Given the description of an element on the screen output the (x, y) to click on. 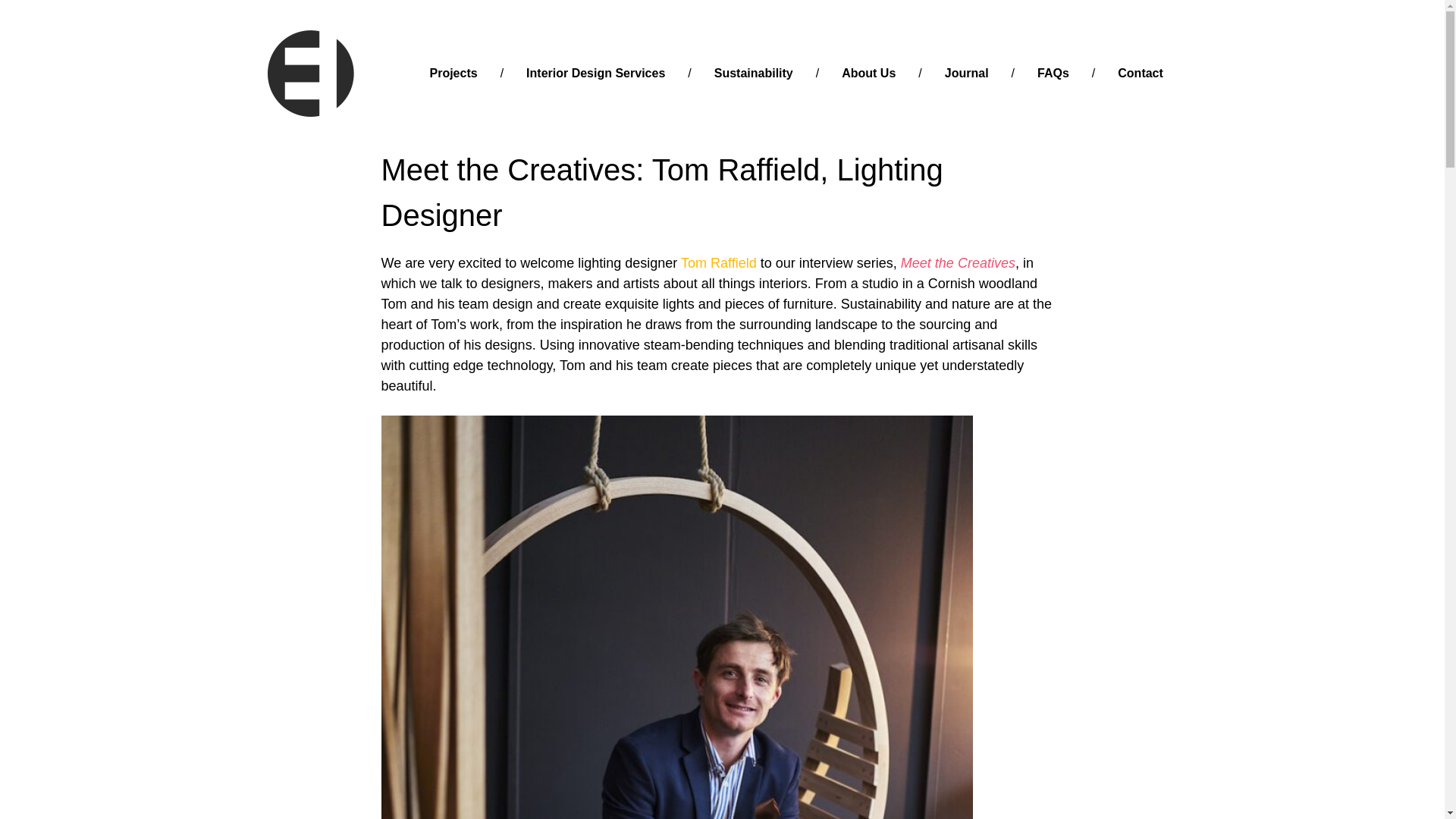
Interior Design Services (595, 73)
Projects (453, 73)
Journal (966, 73)
Sustainability (753, 73)
About Us (868, 73)
Contact (1140, 73)
